Given the description of an element on the screen output the (x, y) to click on. 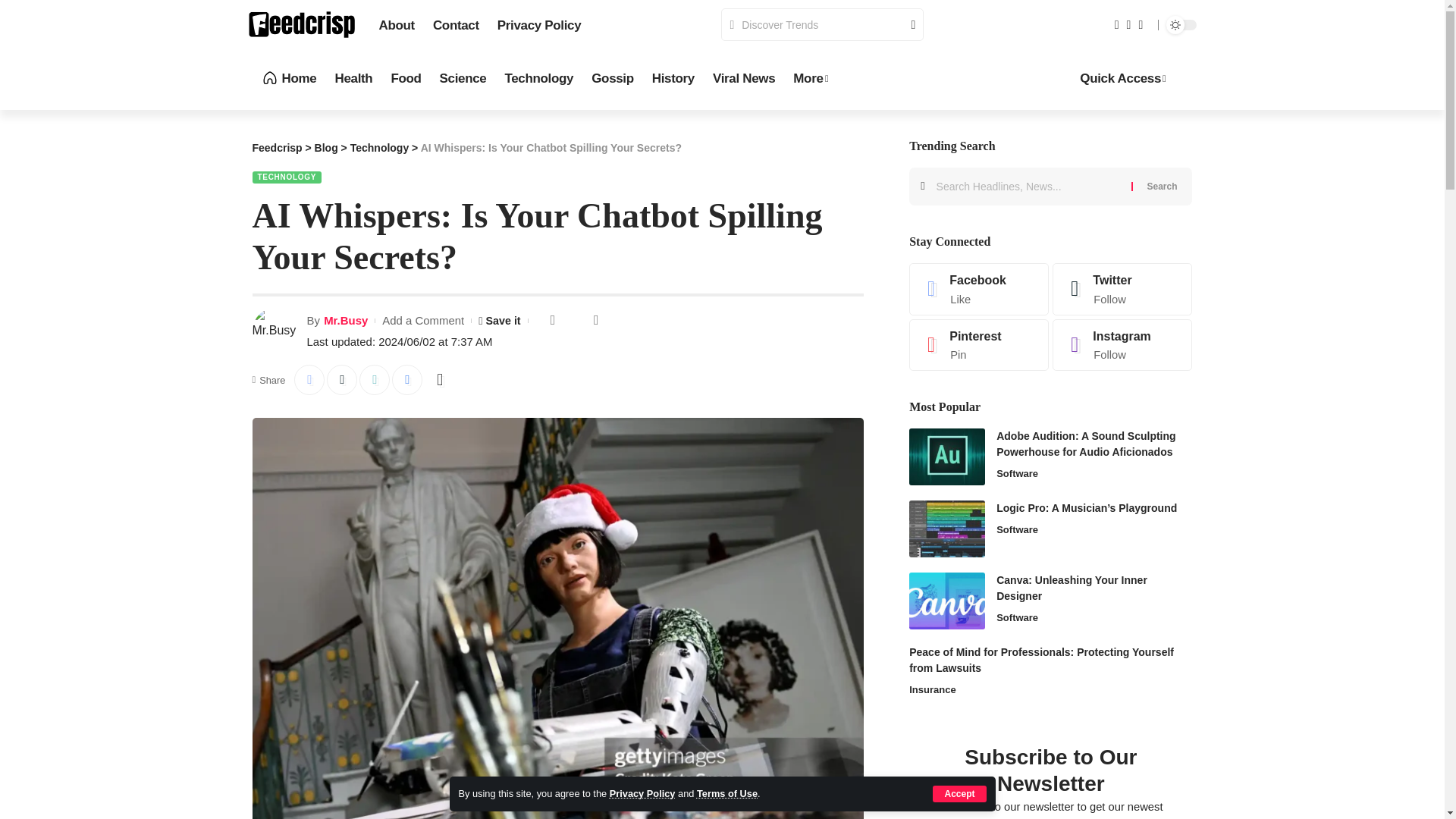
Privacy Policy (539, 26)
Technology (538, 79)
Gossip (612, 79)
Contact (455, 26)
Food (405, 79)
Go to Feedcrisp. (276, 147)
Home (287, 79)
Health (352, 79)
Go to Blog. (325, 147)
Go to the Technology Category archives. (379, 147)
Quick Access (1122, 79)
Search (907, 24)
More (810, 79)
About (396, 26)
Canva: Unleashing Your Inner Designer (946, 600)
